Given the description of an element on the screen output the (x, y) to click on. 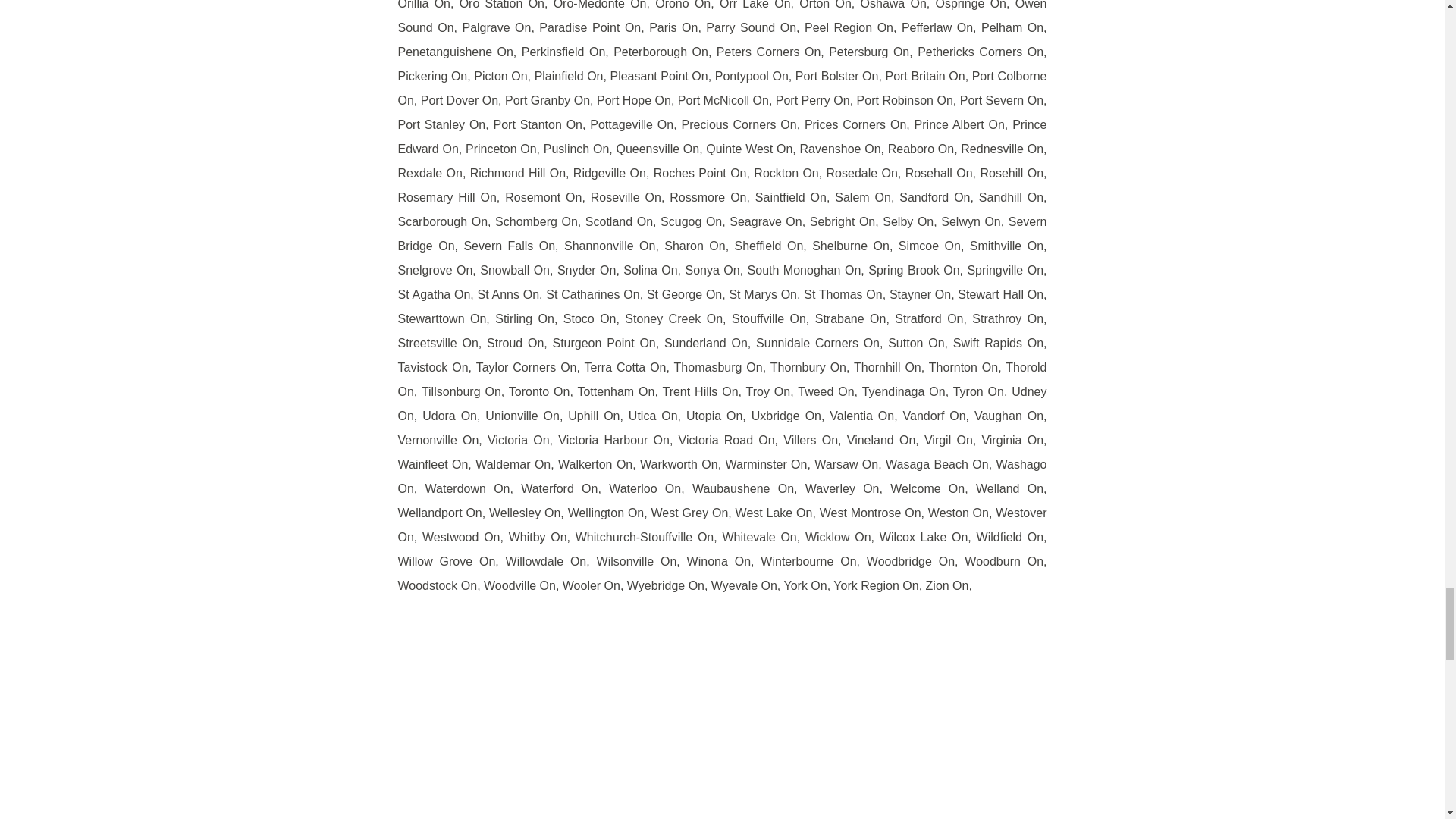
YouTube video player (721, 719)
